Given the description of an element on the screen output the (x, y) to click on. 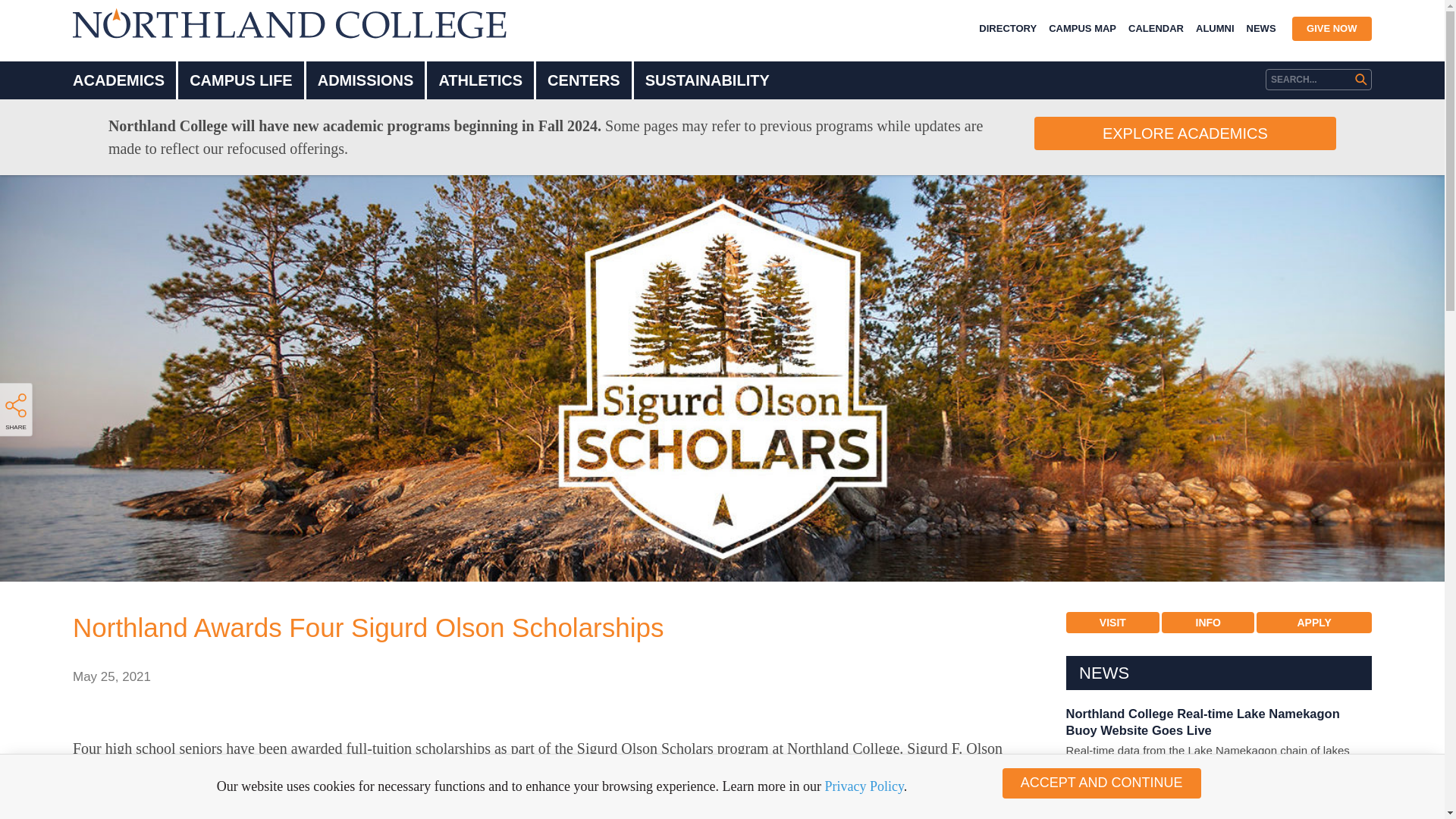
CALENDAR (1155, 28)
CAMPUS MAP (1082, 28)
DIRECTORY (1007, 28)
ALUMNI (1214, 28)
CAMPUS LIFE (240, 80)
Northland College (289, 22)
ACADEMICS (118, 80)
GIVE NOW (1331, 28)
NEWS (1261, 28)
ATHLETICS (480, 80)
SUSTAINABILITY (706, 80)
Search (52, 15)
ADMISSIONS (365, 80)
CENTERS (583, 80)
